Given the description of an element on the screen output the (x, y) to click on. 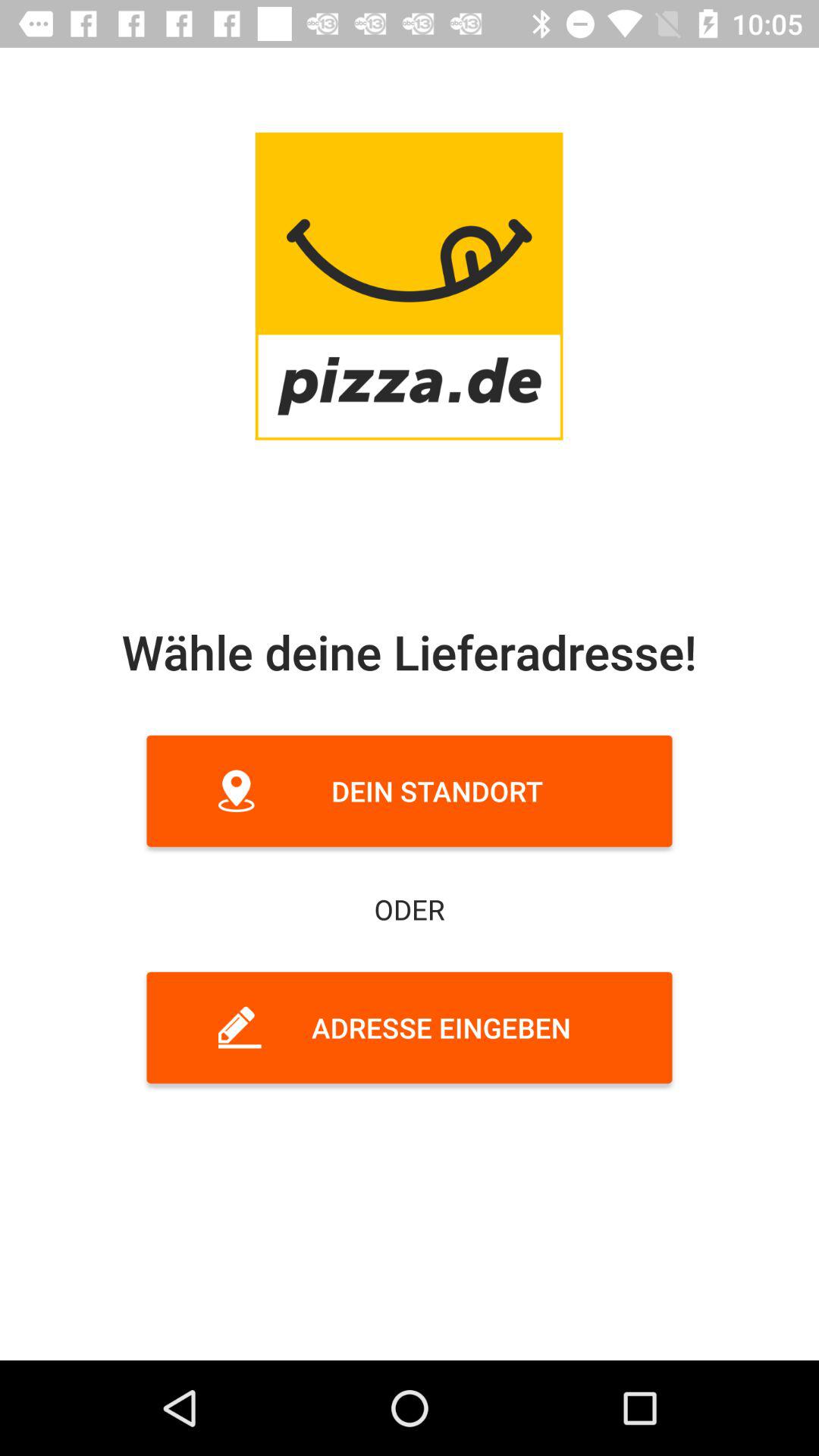
flip to the dein standort item (409, 790)
